Given the description of an element on the screen output the (x, y) to click on. 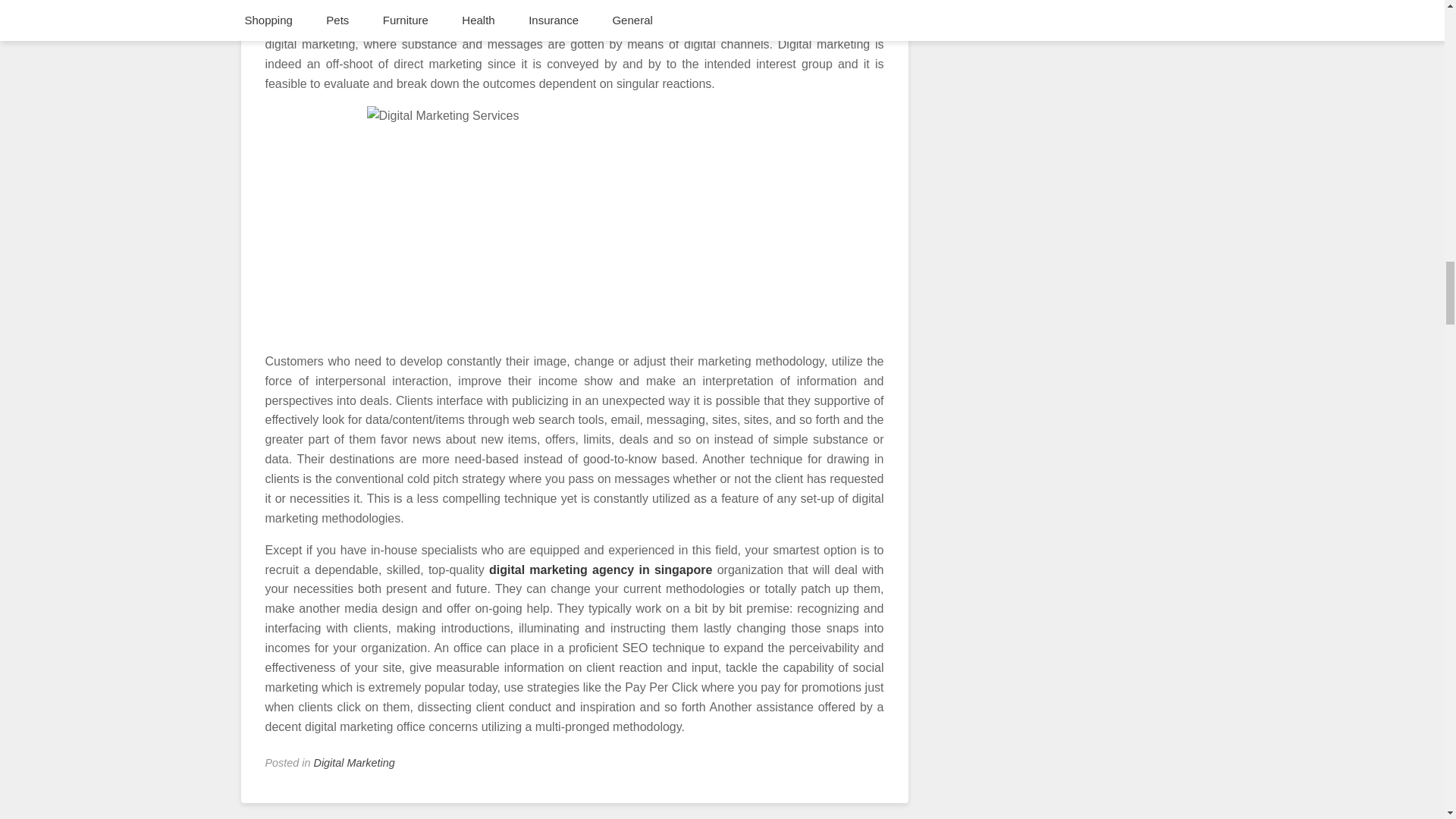
digital marketing agency in singapore (600, 569)
Digital Marketing (354, 762)
